Given the description of an element on the screen output the (x, y) to click on. 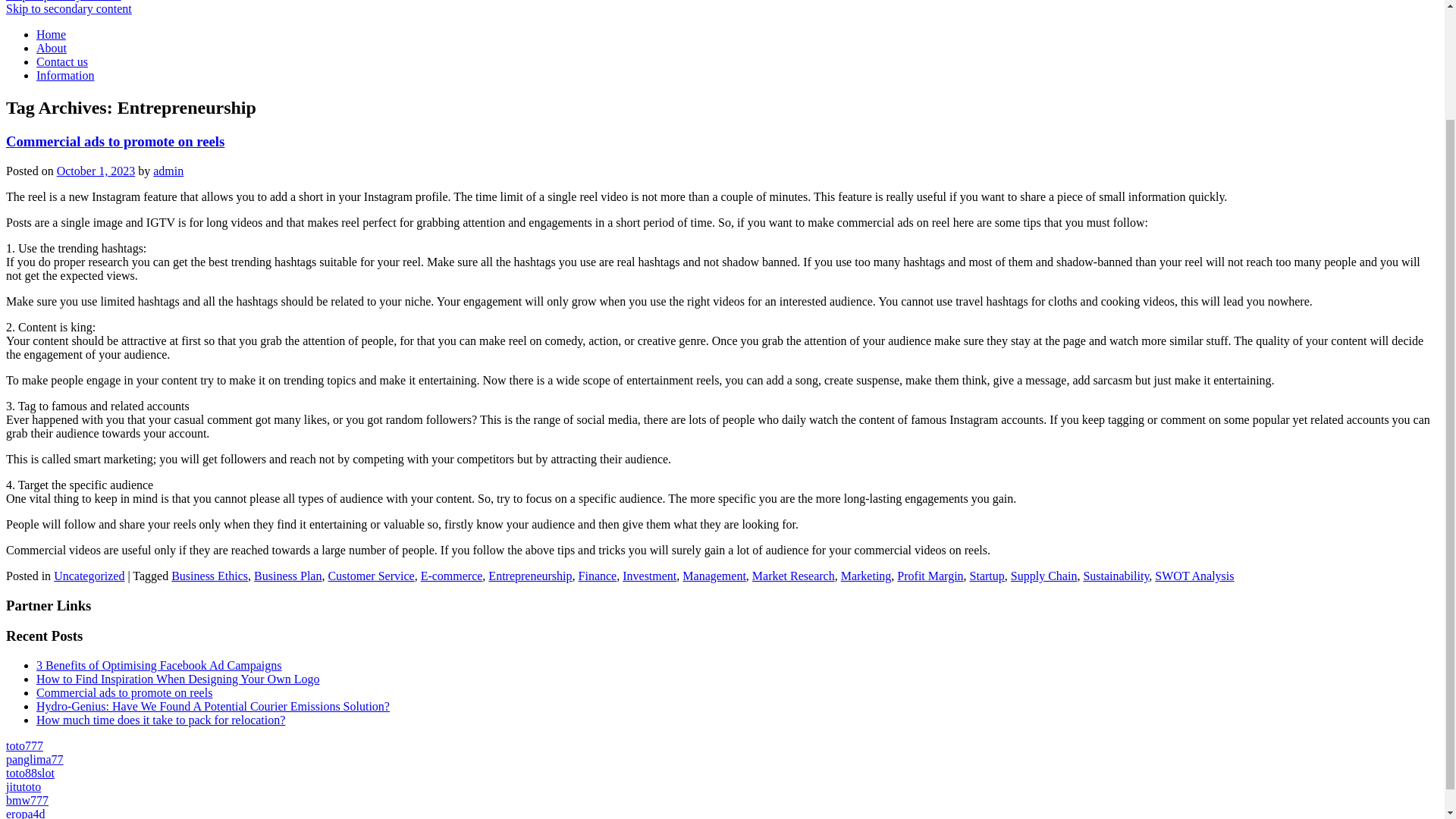
Marketing (866, 575)
How much time does it take to pack for relocation? (160, 719)
E-commerce (451, 575)
Entrepreneurship (529, 575)
Commercial ads to promote on reels (124, 692)
How to Find Inspiration When Designing Your Own Logo (177, 678)
How to Find Inspiration When Designing Your Own Logo (177, 678)
3 Benefits of Optimising Facebook Ad Campaigns (159, 665)
Management (713, 575)
Skip to secondary content (68, 8)
panglima77 (34, 758)
Business Ethics (209, 575)
How much time does it take to pack for relocation? (160, 719)
Information (65, 74)
